Given the description of an element on the screen output the (x, y) to click on. 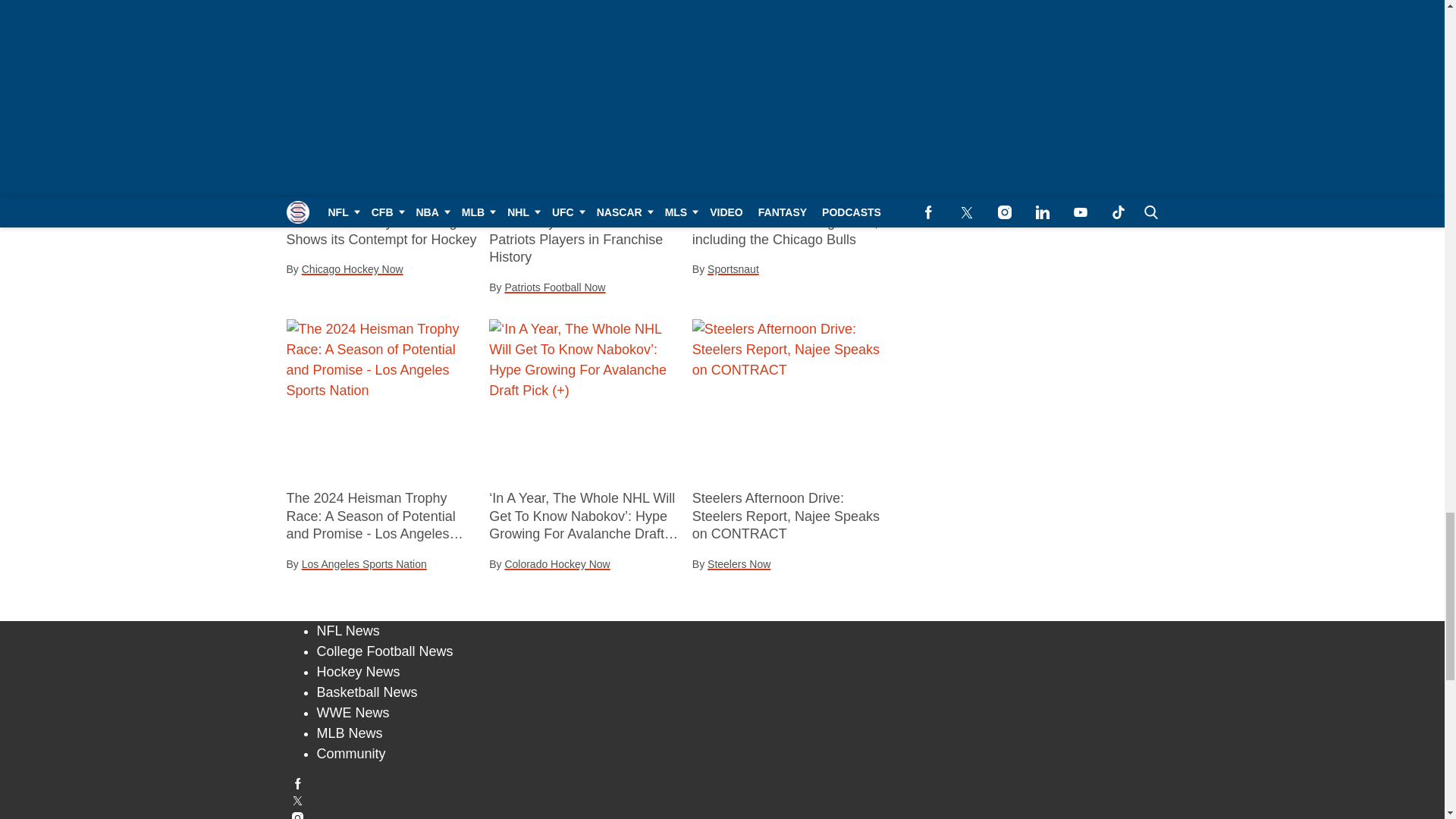
Follow us on Twitter (722, 799)
Follow us on Facebook (722, 783)
